Given the description of an element on the screen output the (x, y) to click on. 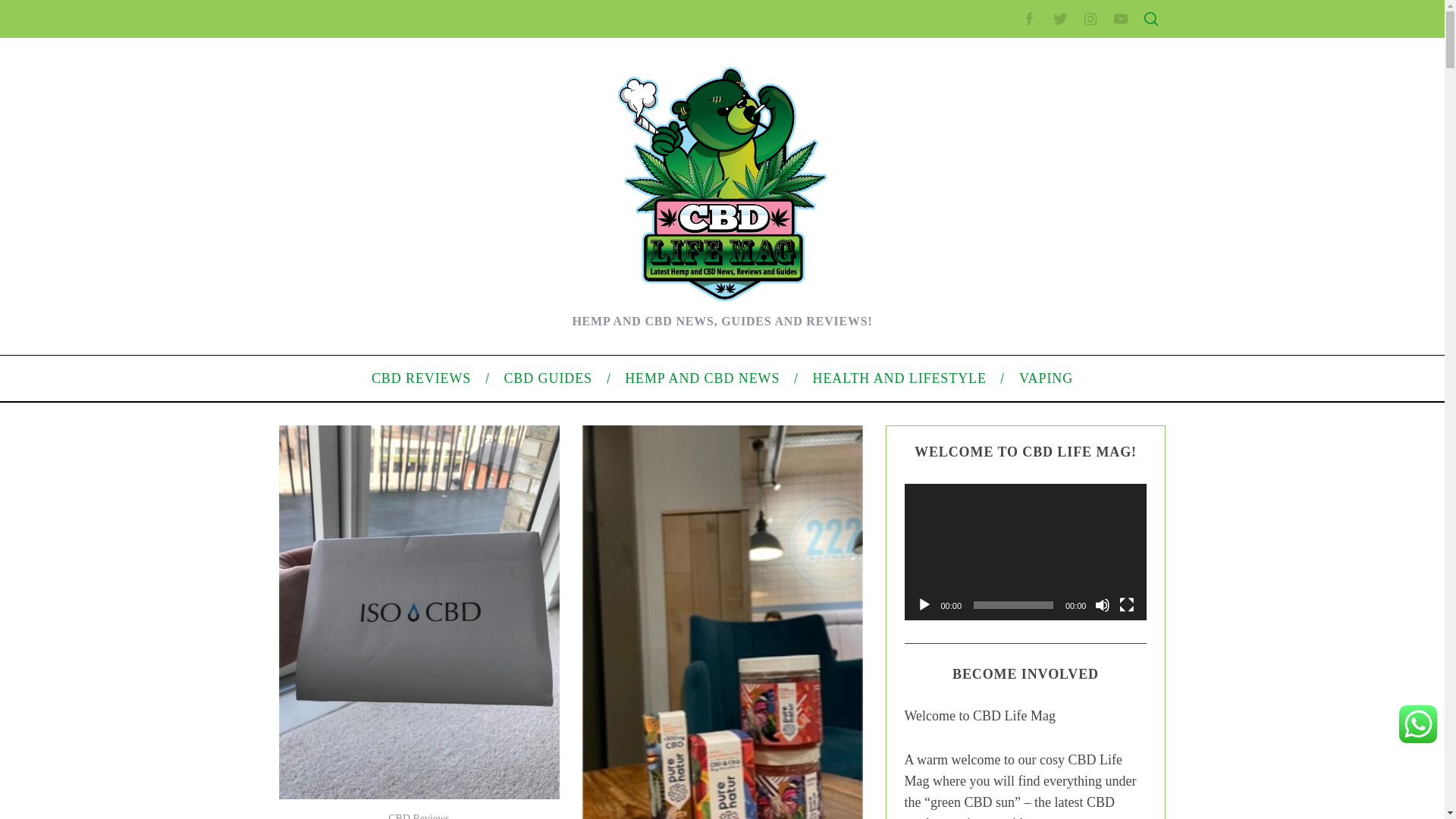
Skip to content (34, 9)
Terms of Use (996, 330)
August 2020 (996, 432)
RSS (977, 612)
Blog (976, 510)
Search (1050, 85)
Search (1050, 85)
try this (789, 702)
CUPCAKEDELIGHTS.CO.UK (433, 28)
Contact Us (991, 258)
Privacy Policy (999, 306)
ADMINISTRATOR (417, 118)
Latest Article (996, 172)
Log in (980, 588)
Disclaimer (990, 354)
